Given the description of an element on the screen output the (x, y) to click on. 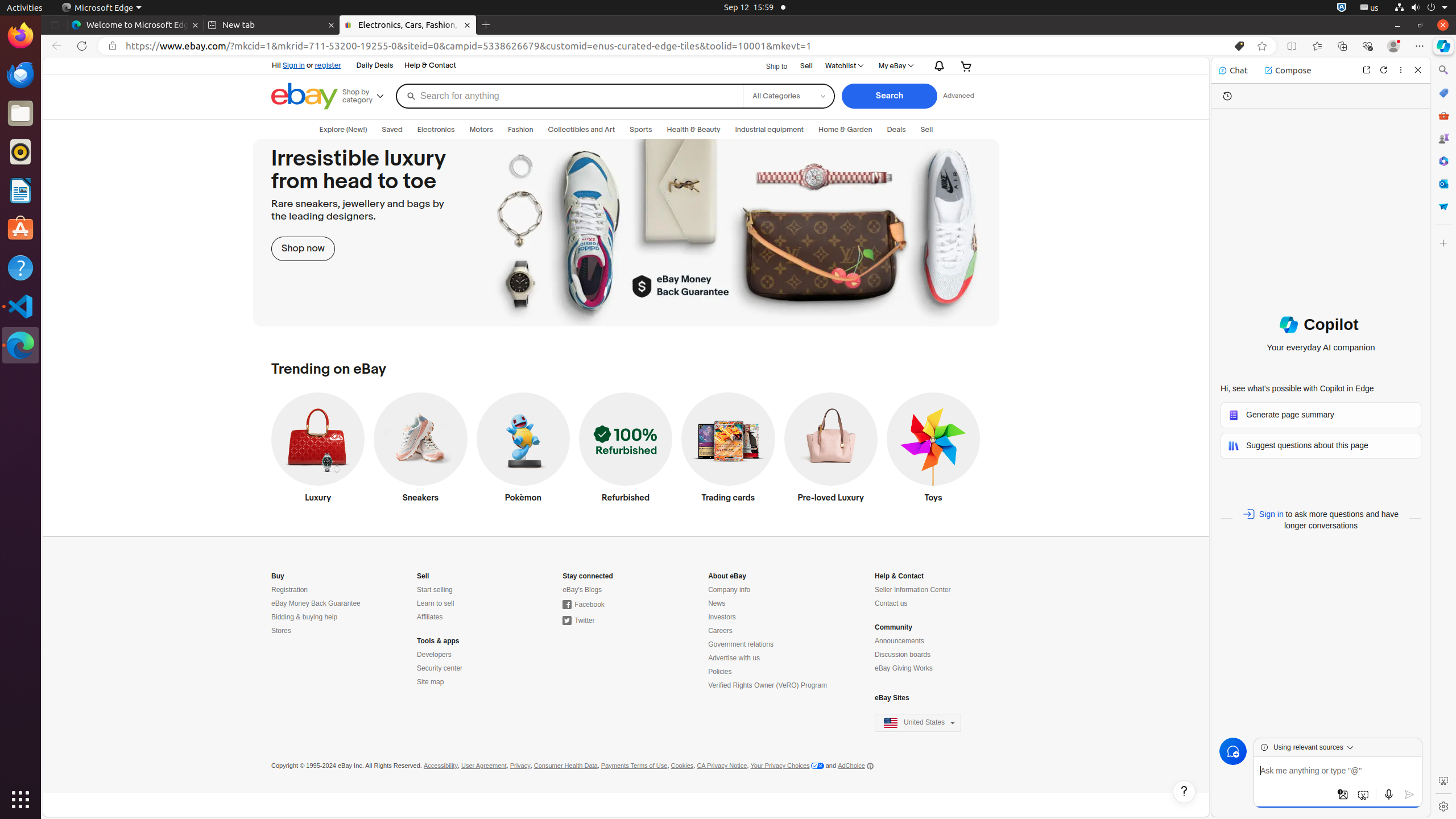
Add an screenshot image to search Element type: push-button (1363, 794)
Close tab Element type: push-button (195, 25)
Browser essentials Element type: push-button (1366, 45)
Microsoft Edge Element type: menu (101, 7)
Stores Element type: link (281, 630)
